Given the description of an element on the screen output the (x, y) to click on. 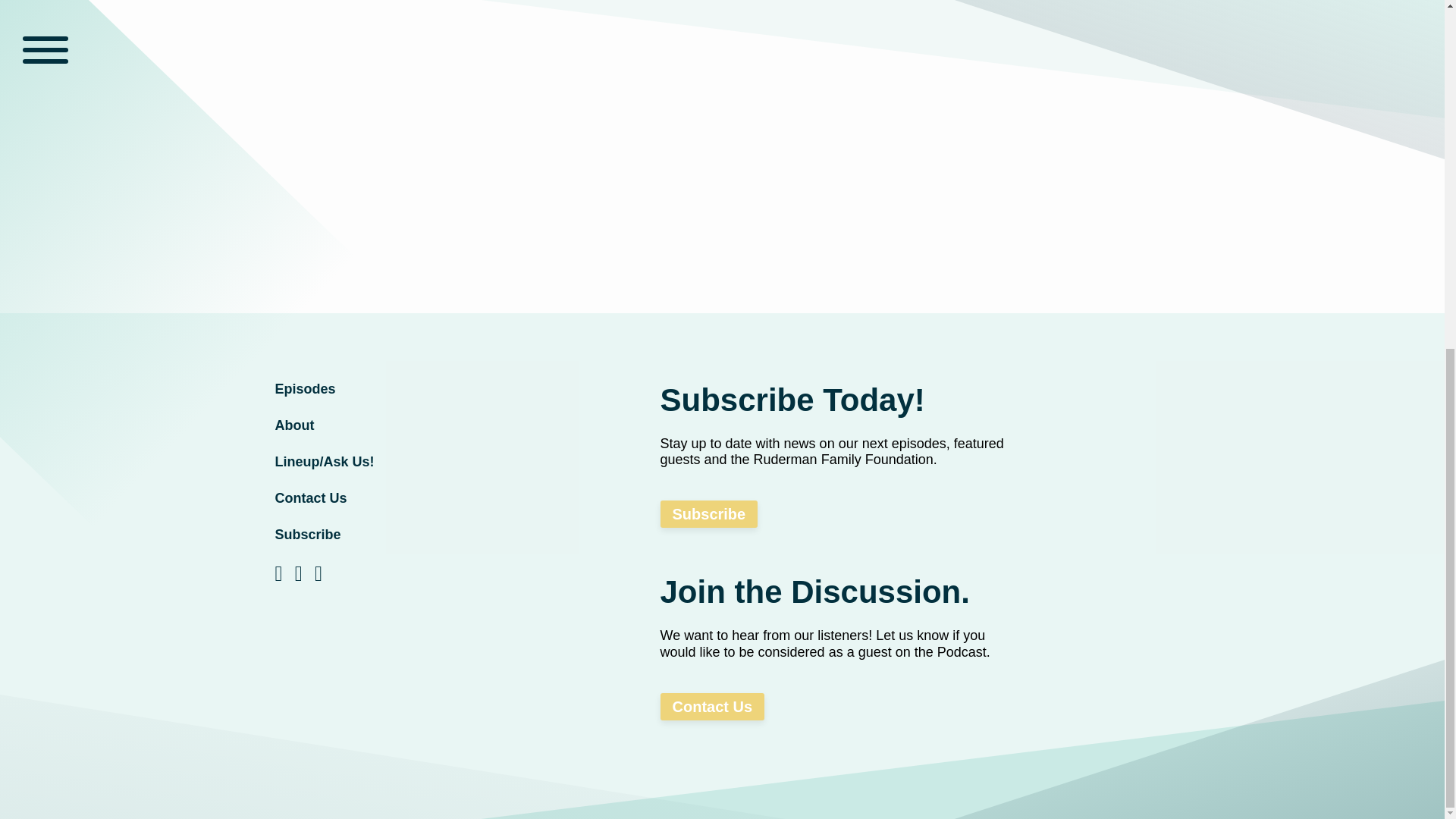
Contact Us (388, 498)
About (388, 425)
Episodes (388, 389)
Contact Us (711, 706)
Subscribe (388, 534)
Subscribe (708, 513)
